Given the description of an element on the screen output the (x, y) to click on. 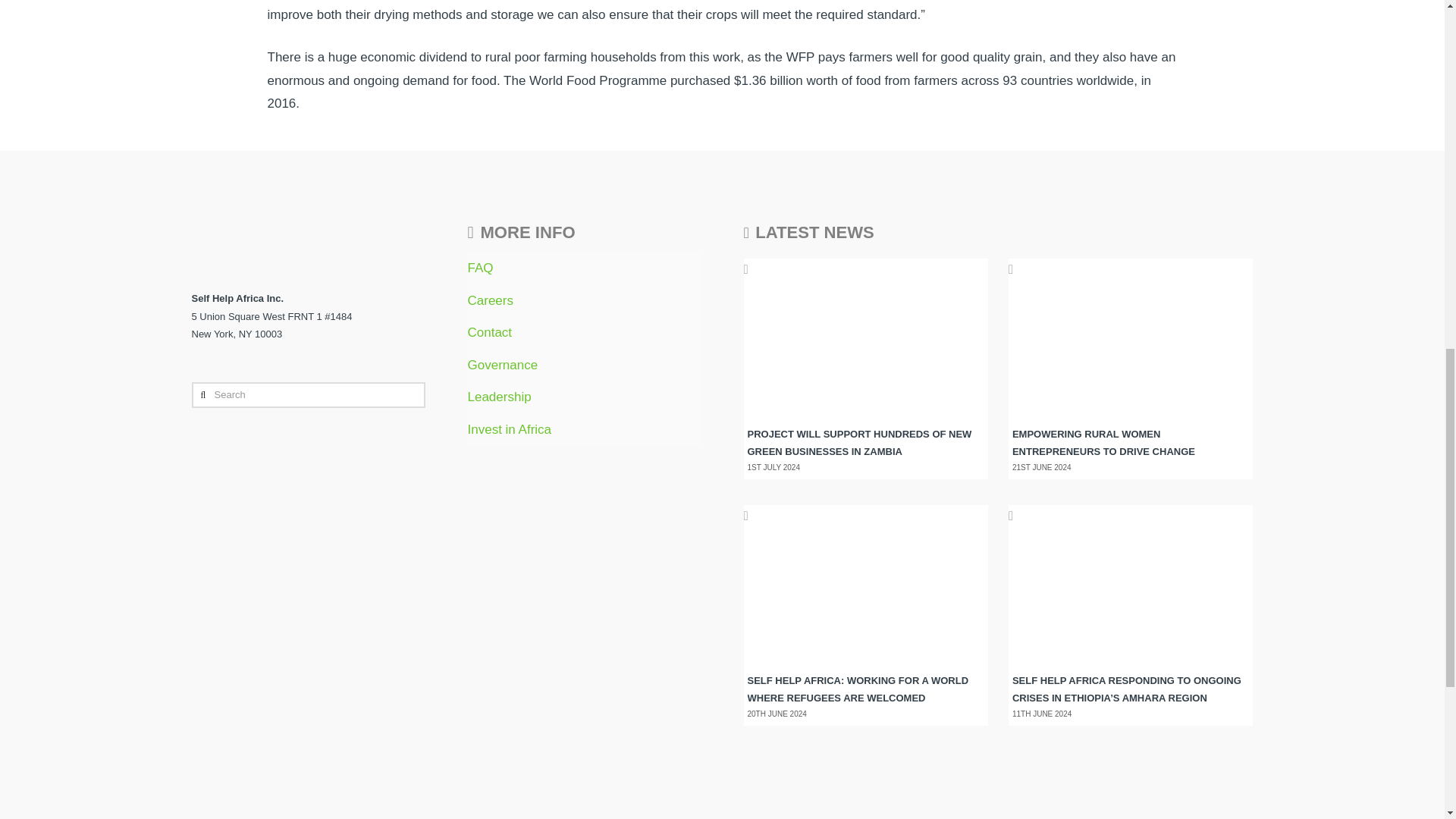
FAQ (480, 268)
